Given the description of an element on the screen output the (x, y) to click on. 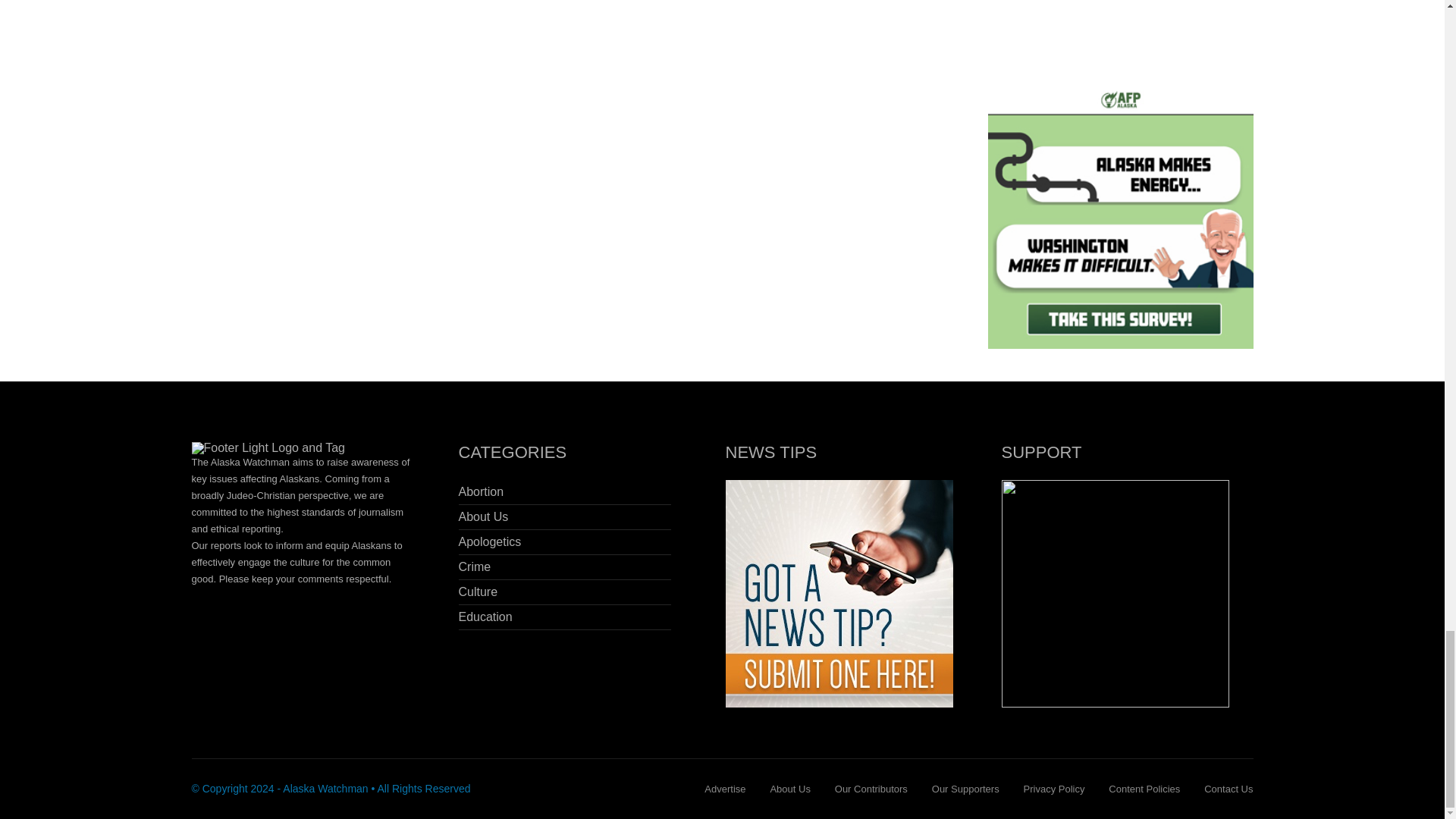
Footer Light Logo and Tag (267, 448)
